Given the description of an element on the screen output the (x, y) to click on. 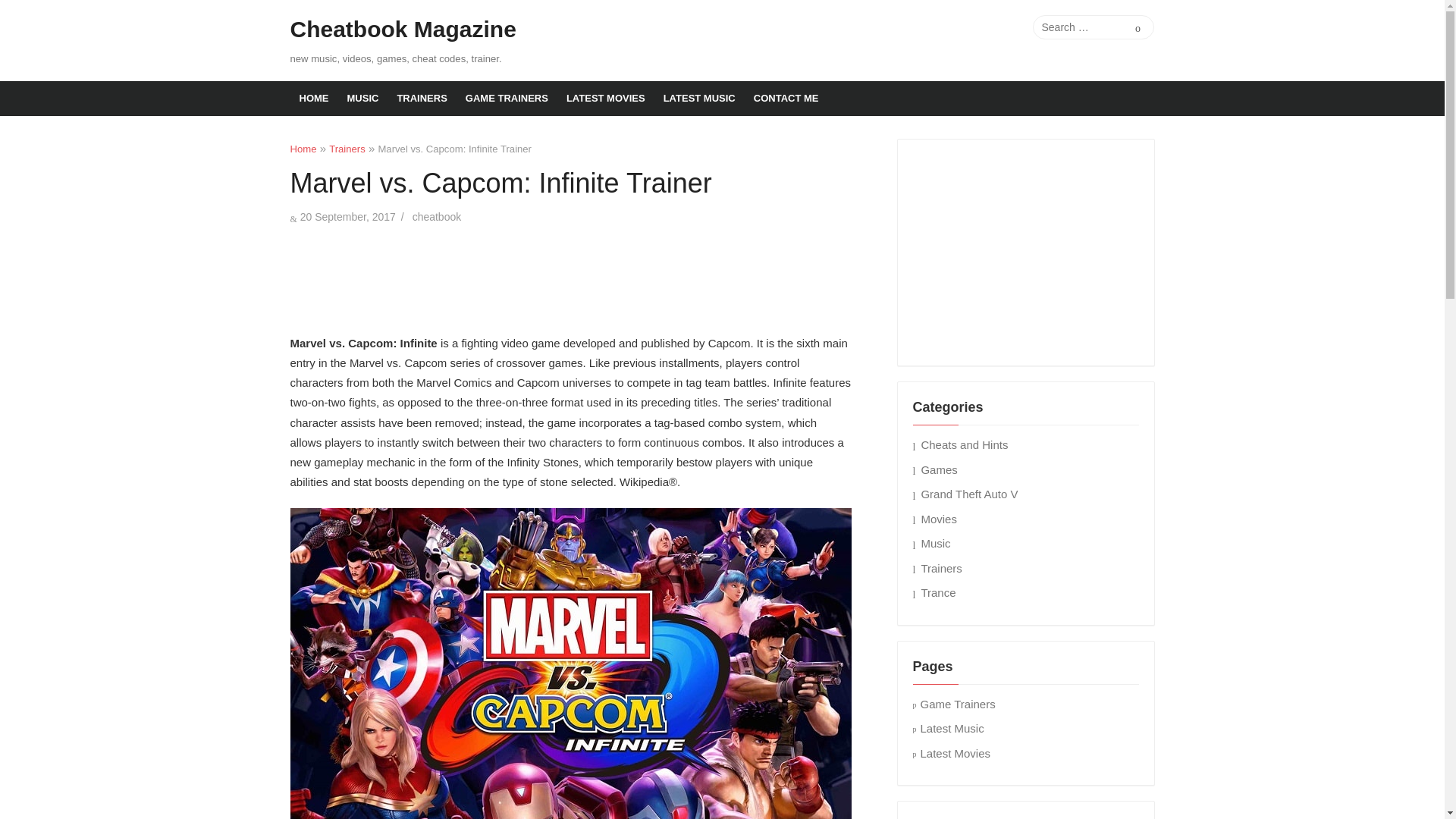
Advertisement (569, 275)
20 September, 2017 (347, 216)
Trainers (347, 148)
LATEST MUSIC (698, 98)
Cheatbook Magazine (402, 29)
MUSIC (362, 98)
Home (302, 148)
CONTACT ME (786, 98)
Search (1137, 27)
GAME TRAINERS (507, 98)
